Given the description of an element on the screen output the (x, y) to click on. 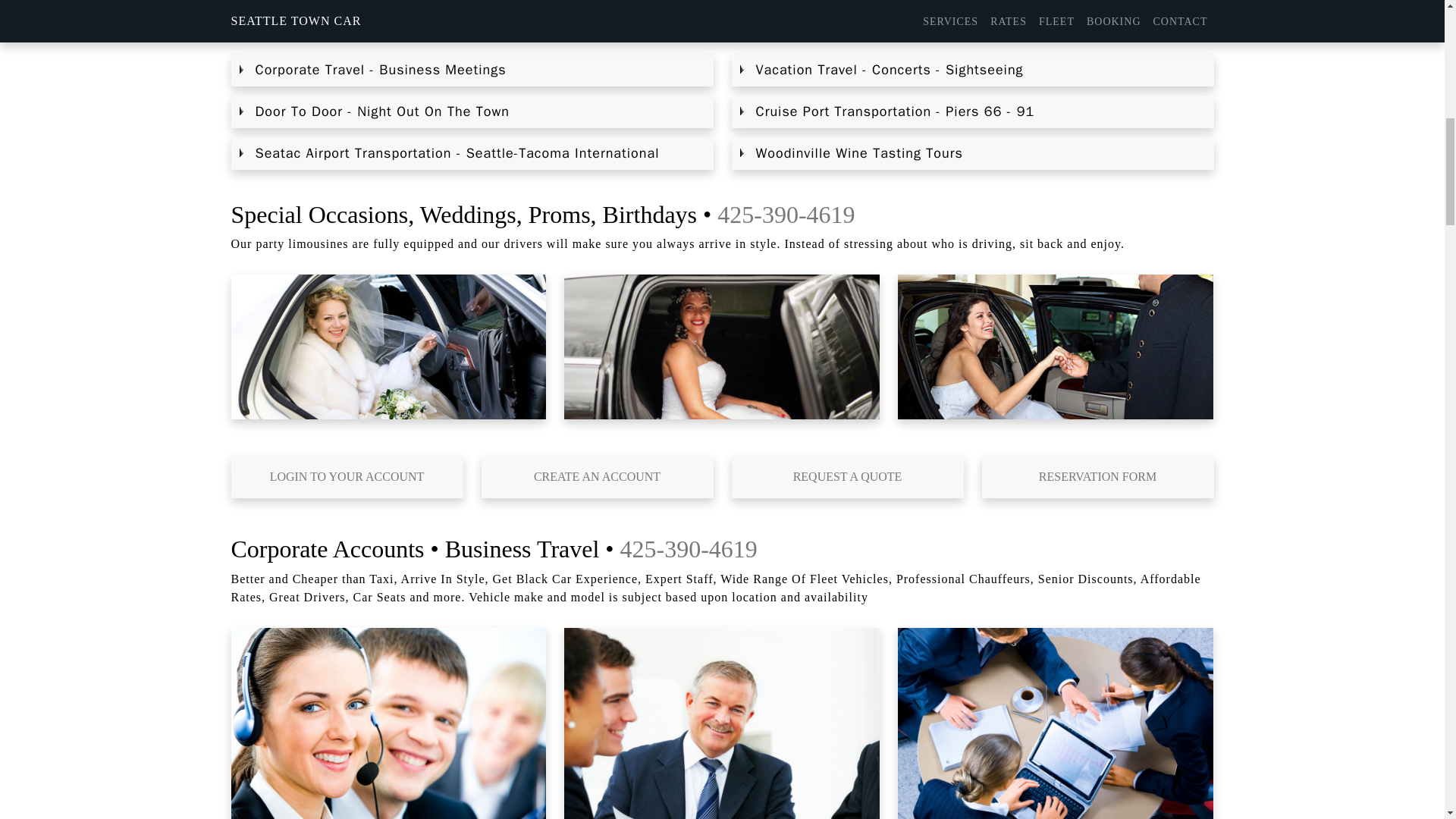
425-390-4619 (785, 214)
425-390-4619 (688, 548)
RESERVATION FORM (1096, 476)
REQUEST A QUOTE (846, 476)
CREATE AN ACCOUNT (596, 476)
LOGIN TO YOUR ACCOUNT (346, 476)
